Given the description of an element on the screen output the (x, y) to click on. 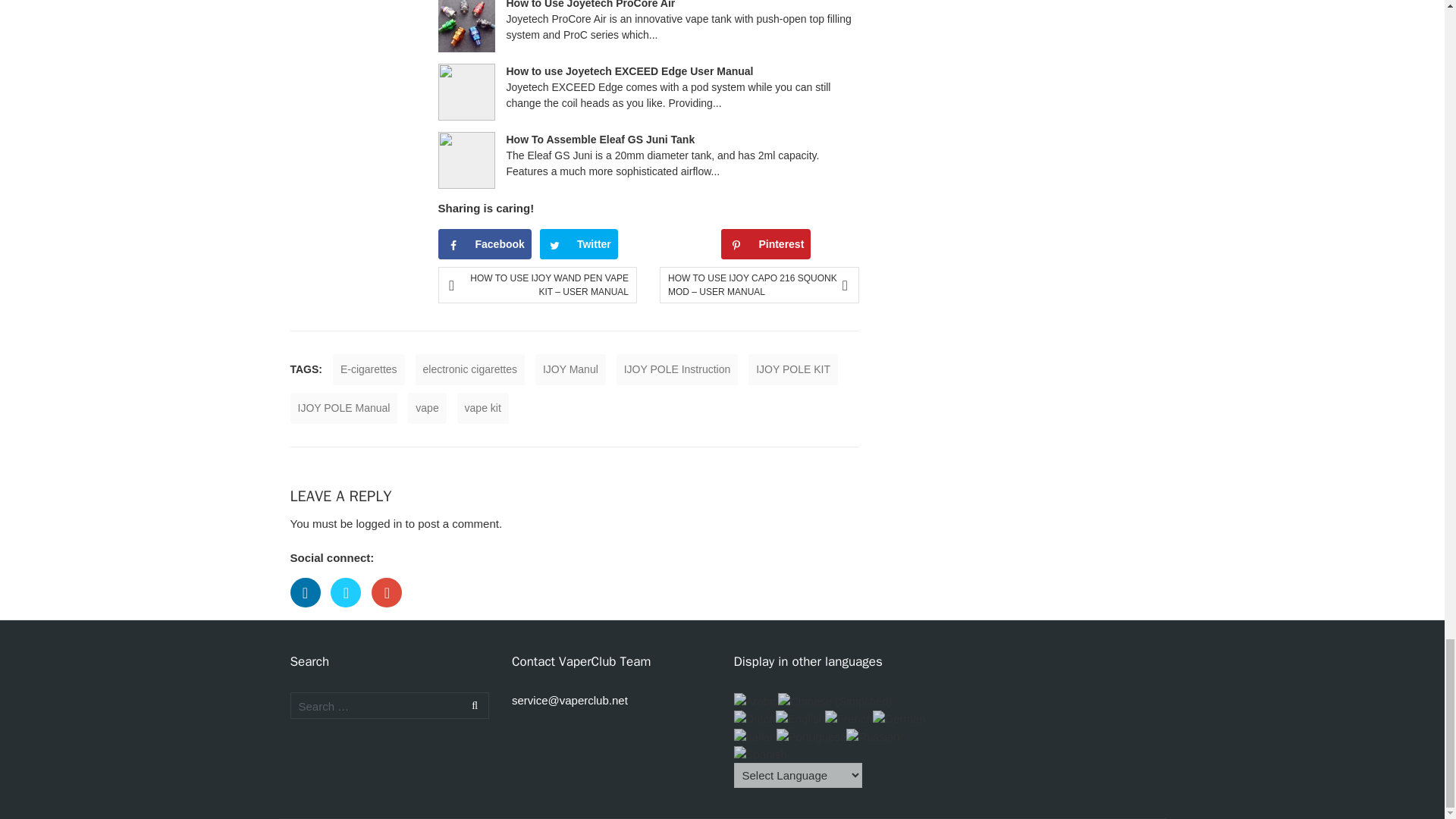
Share on Twitter (578, 244)
Dutch (754, 717)
Portuguese (811, 735)
Arabic (755, 699)
German (899, 717)
Save to Pinterest (765, 244)
Login with facebook (309, 611)
Login with twitter (350, 611)
Search (471, 705)
English (800, 717)
